Given the description of an element on the screen output the (x, y) to click on. 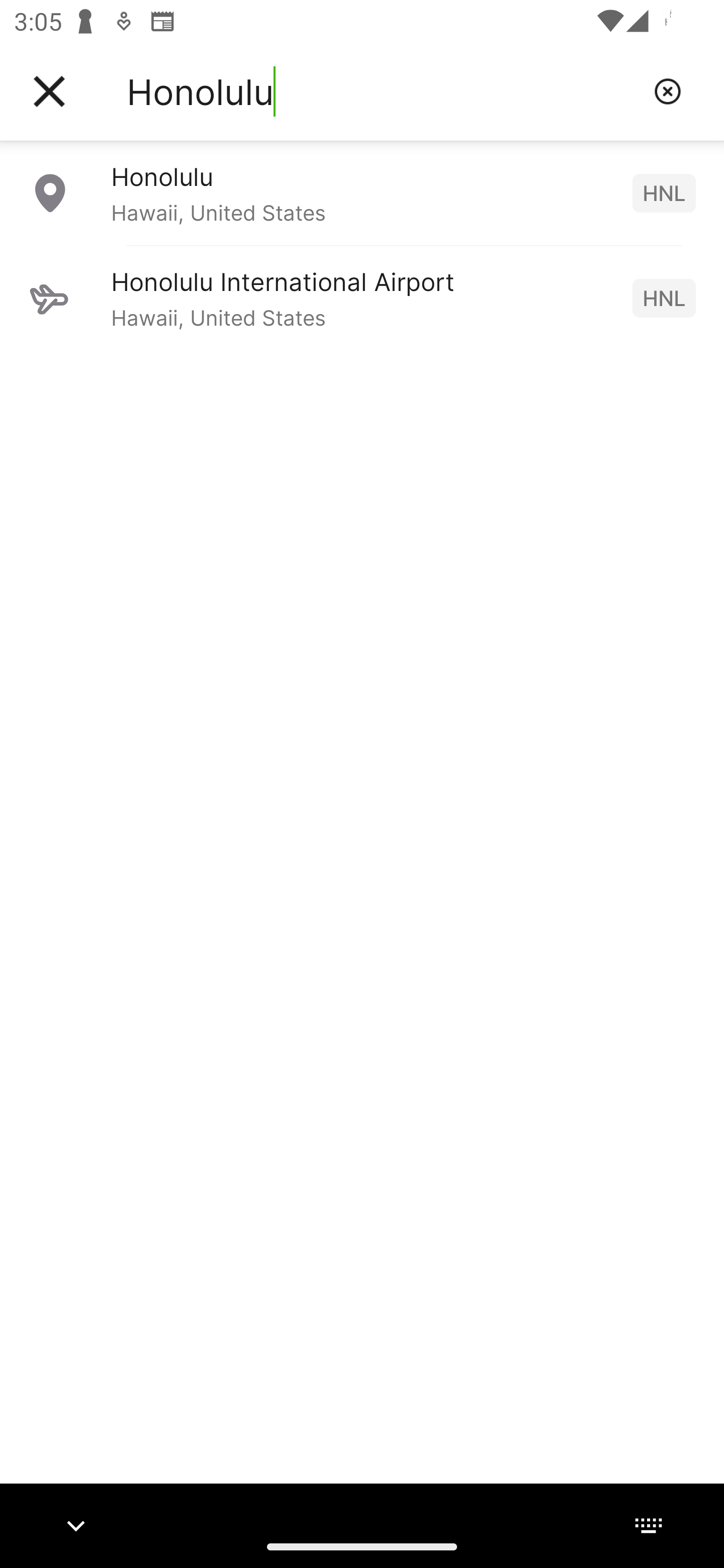
Honolulu (382, 91)
Honolulu Hawaii, United States HNL (362, 192)
